Given the description of an element on the screen output the (x, y) to click on. 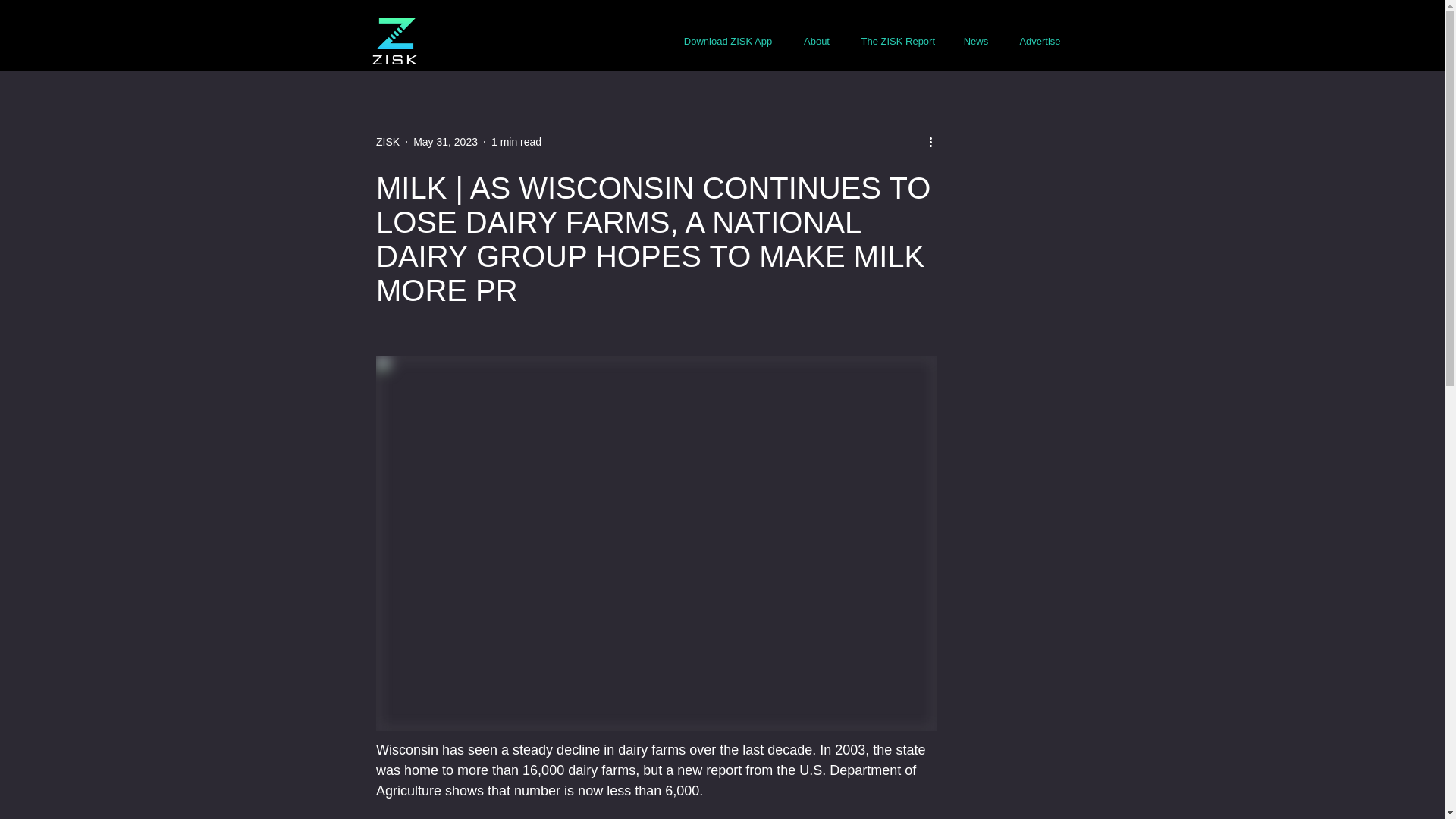
The ZISK Report (897, 40)
May 31, 2023 (445, 141)
ZISK (386, 141)
Advertise (1040, 40)
Download ZISK App (727, 40)
1 min read (516, 141)
